Given the description of an element on the screen output the (x, y) to click on. 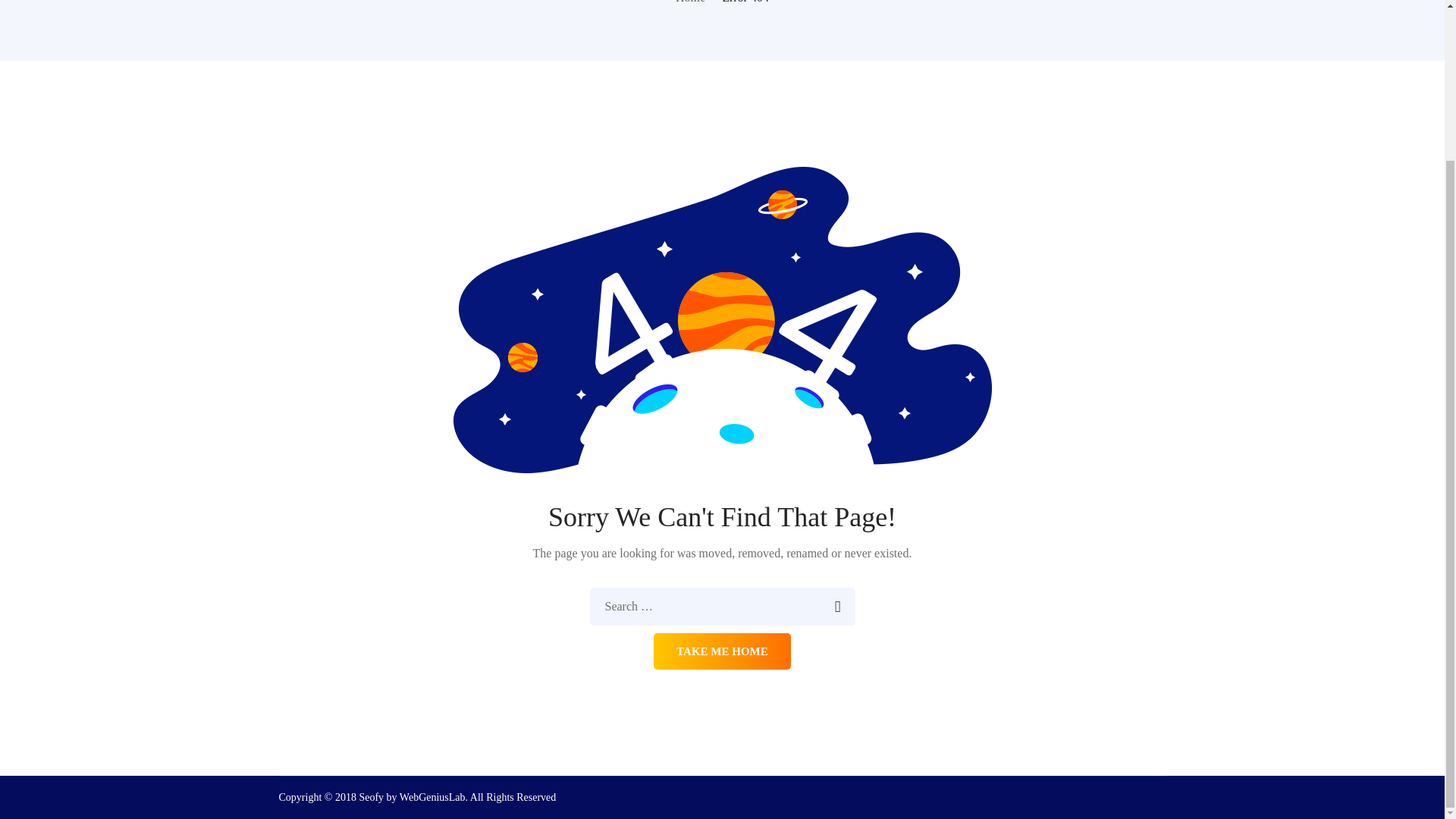
Home (689, 2)
Search (836, 606)
TAKE ME HOME (721, 651)
Search (836, 606)
Search (836, 606)
